Given the description of an element on the screen output the (x, y) to click on. 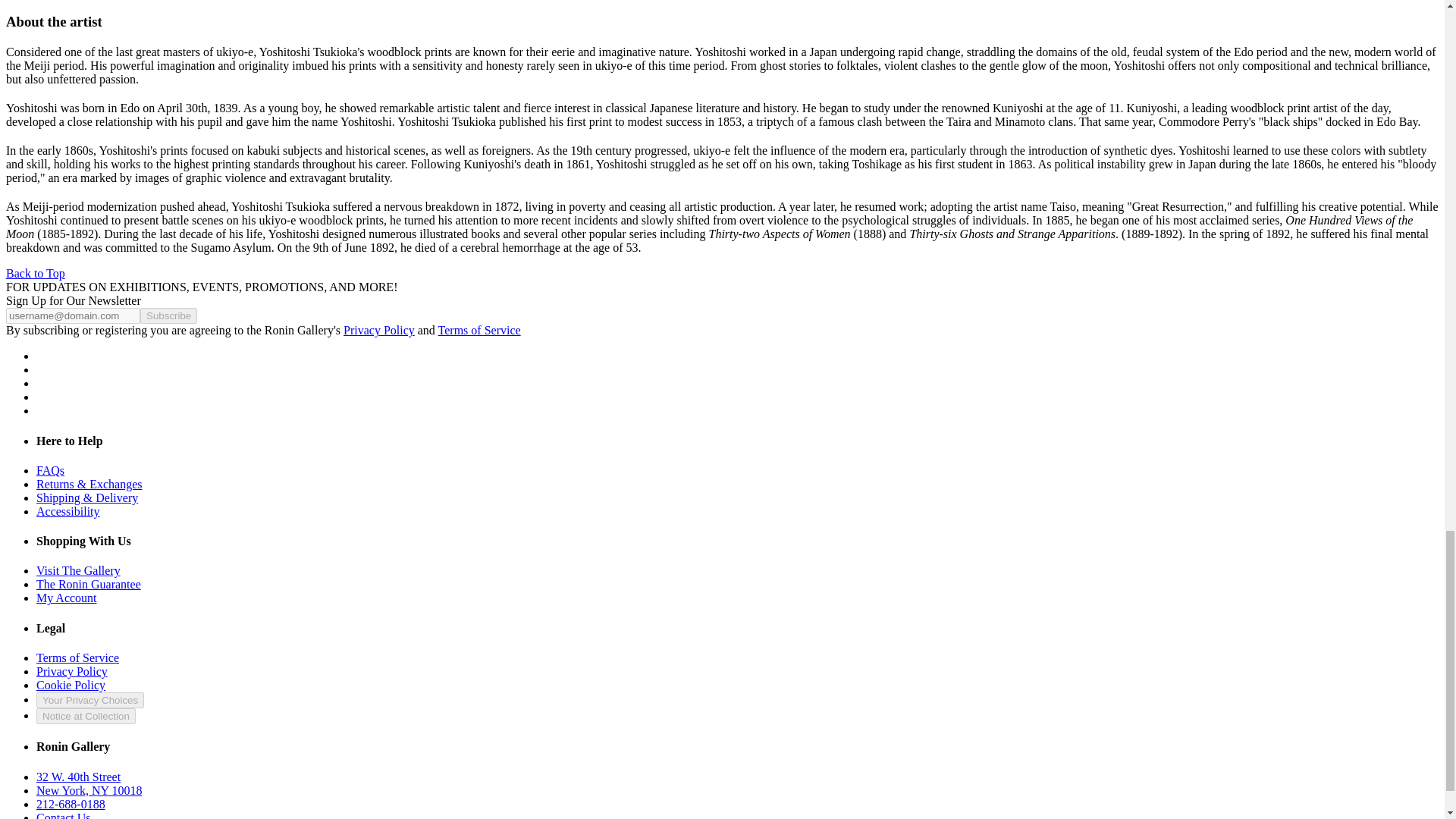
Subscribe (167, 315)
